Given the description of an element on the screen output the (x, y) to click on. 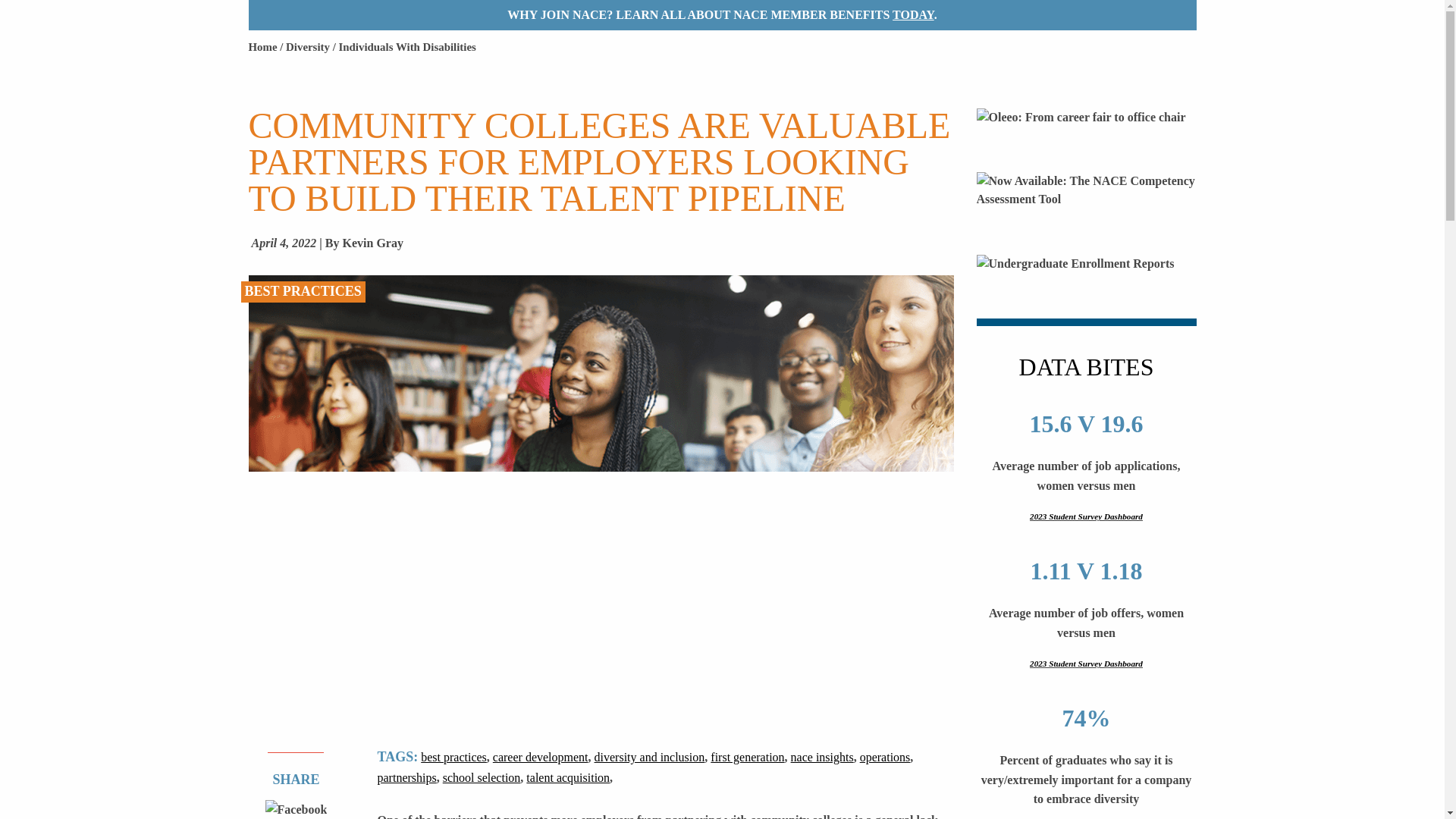
WHY JOIN NACE? LEARN ALL ABOUT NACE MEMBER BENEFITS TODAY. (722, 15)
best practices (453, 757)
partnerships (406, 777)
2023 Student Survey Dashboard (1086, 516)
diversity and inclusion (649, 757)
2023 Student Survey Dashboard (1086, 664)
nace insights (821, 757)
career development (540, 757)
SHARE (295, 779)
operations (885, 757)
